Given the description of an element on the screen output the (x, y) to click on. 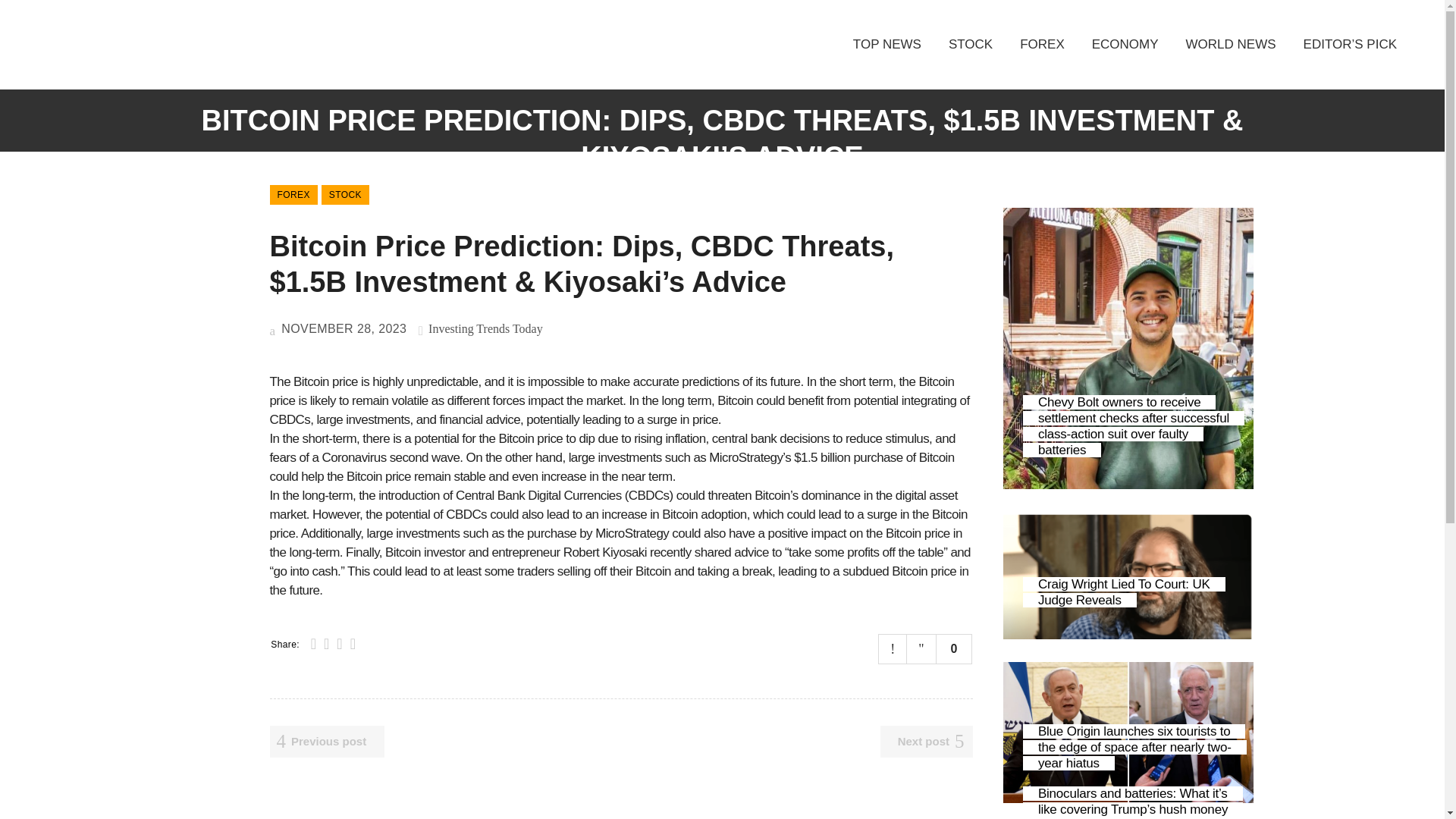
Previous post (327, 741)
TOP NEWS (887, 44)
Craig Wright Lied To Court: UK Judge Reveals (1124, 592)
WORLD NEWS (1231, 44)
Craig Wright Lied To Court: UK Judge Reveals (1124, 592)
Next post (926, 741)
STOCK (345, 194)
